Given the description of an element on the screen output the (x, y) to click on. 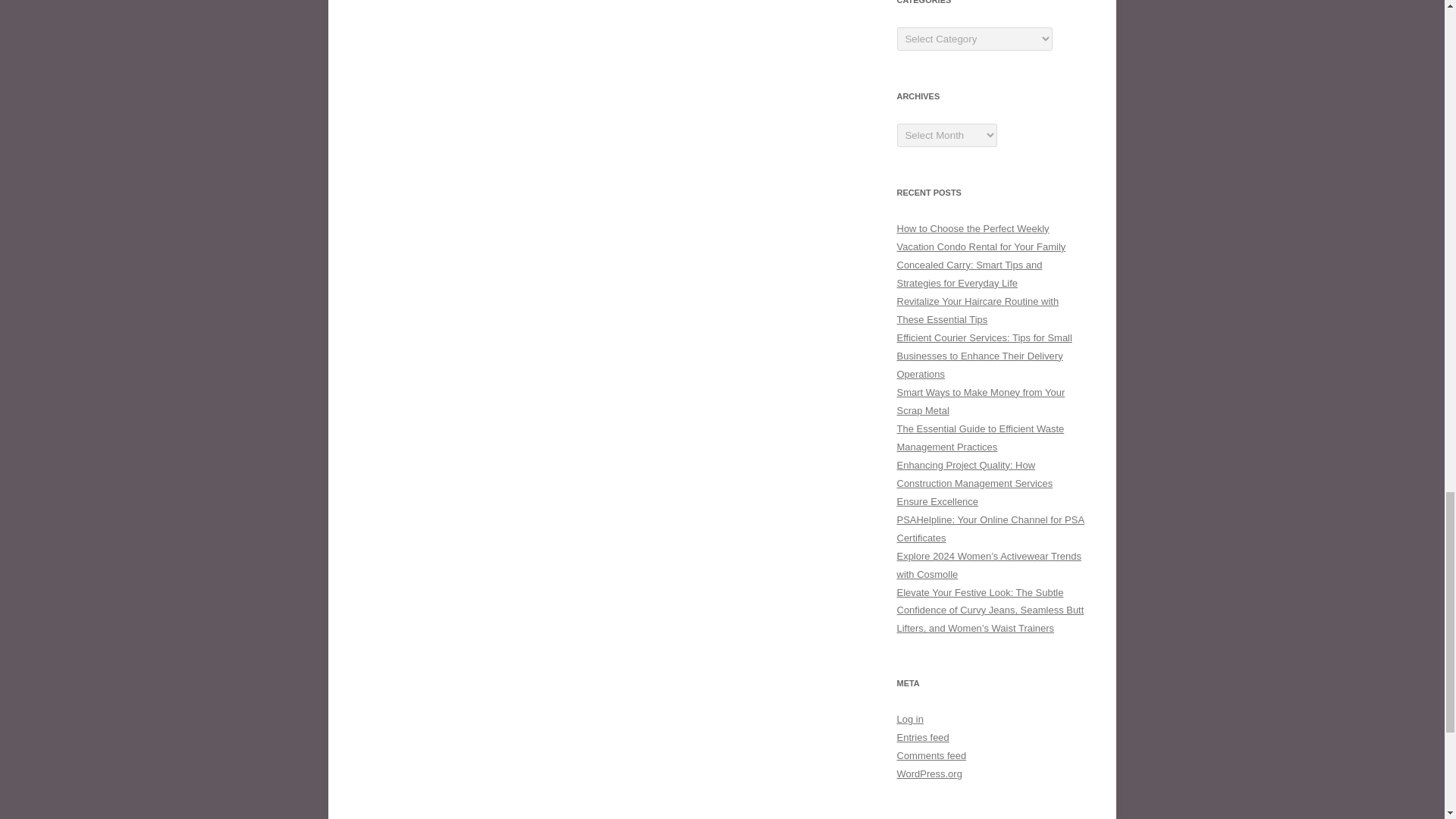
Revitalize Your Haircare Routine with These Essential Tips (977, 310)
PSAHelpline: Your Online Channel for PSA Certificates (990, 528)
The Essential Guide to Efficient Waste Management Practices (980, 437)
Concealed Carry: Smart Tips and Strategies for Everyday Life (969, 274)
Smart Ways to Make Money from Your Scrap Metal (980, 401)
